Given the description of an element on the screen output the (x, y) to click on. 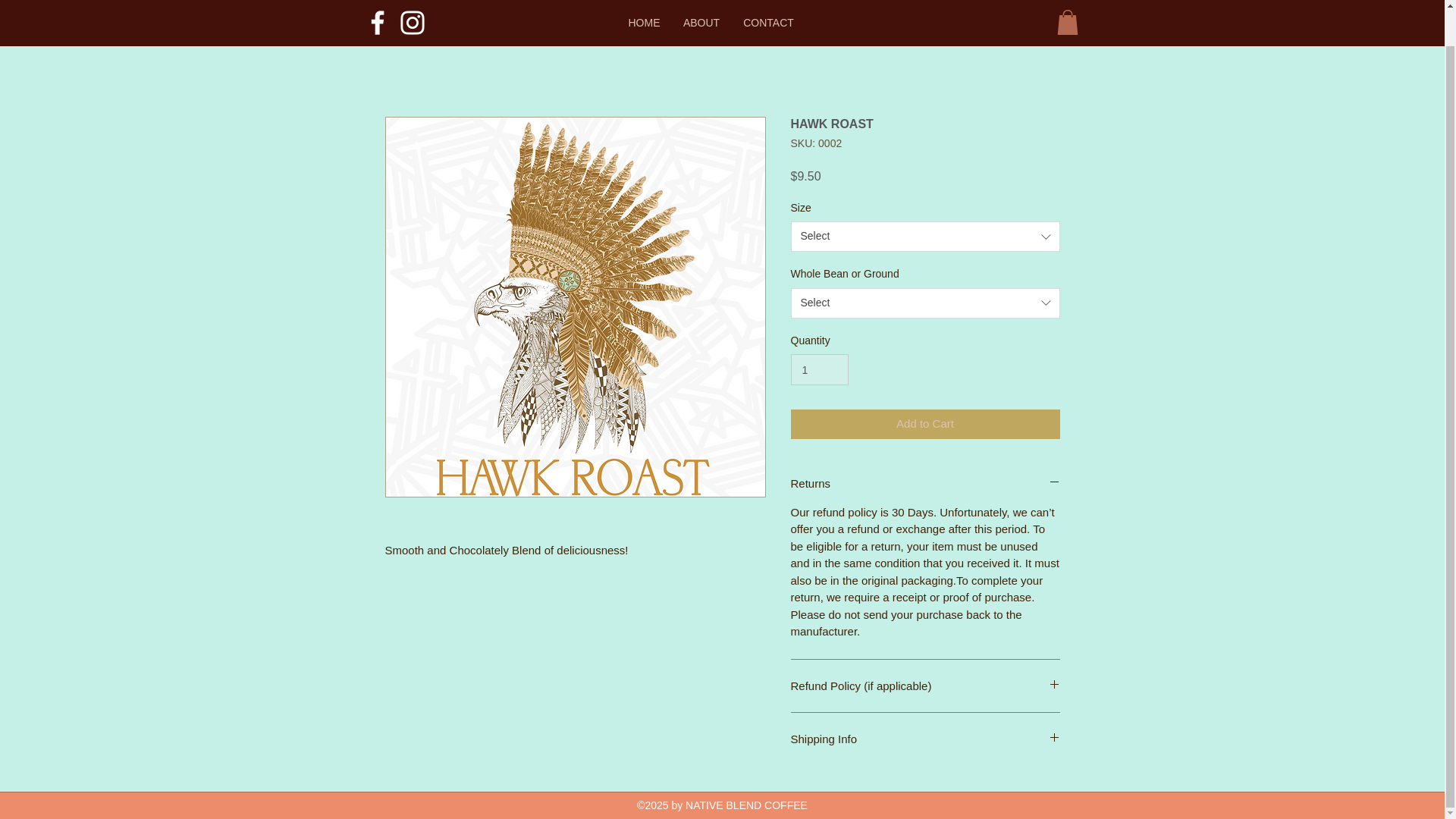
Returns (924, 483)
Select (924, 236)
1 (818, 368)
HOME (644, 0)
Add to Cart (924, 423)
Select (924, 303)
Shipping Info (924, 738)
ABOUT (701, 0)
